Given the description of an element on the screen output the (x, y) to click on. 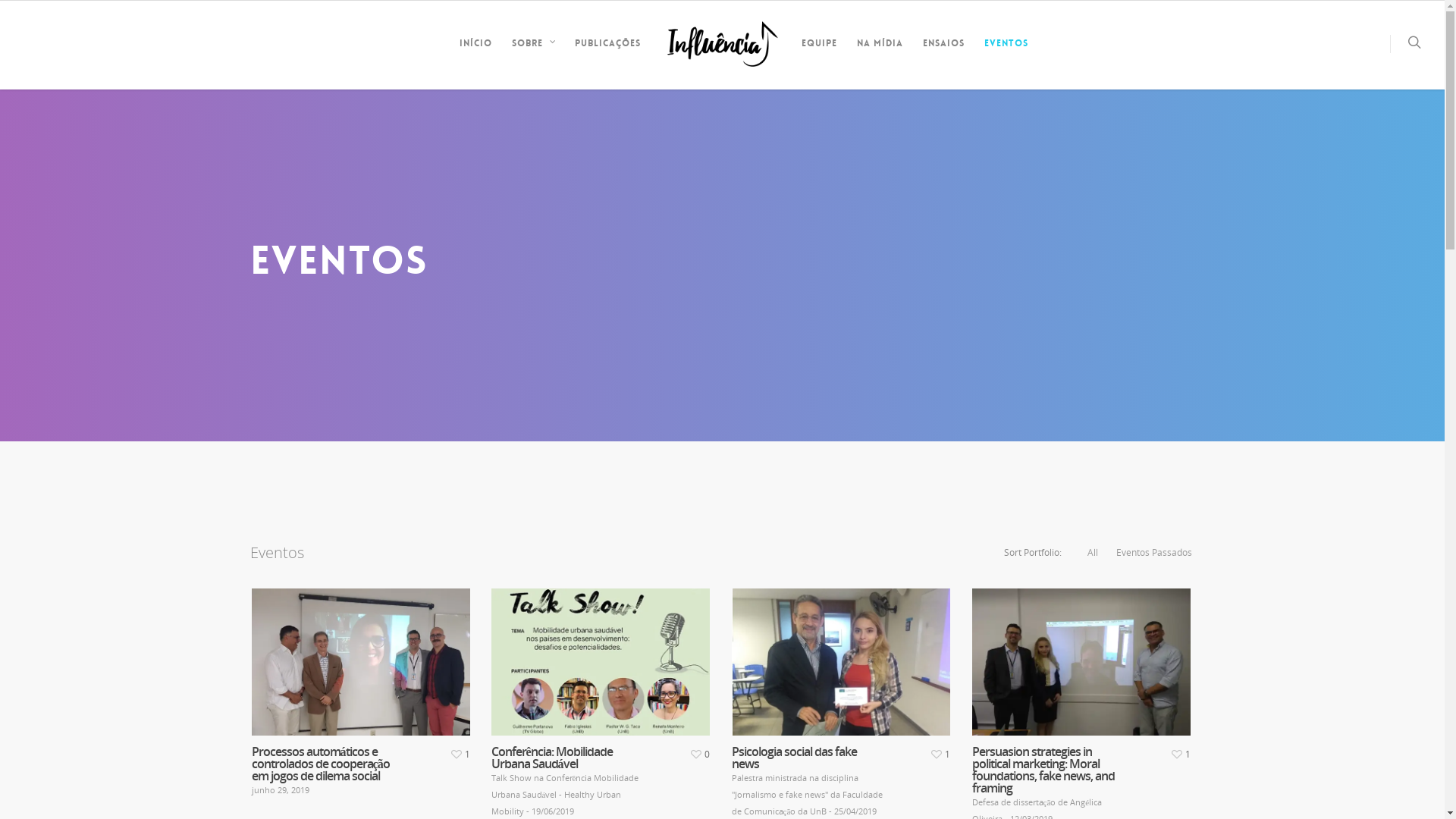
Eventos Element type: text (1005, 54)
Sobre Element type: text (532, 55)
0 Element type: text (698, 752)
1 Element type: text (938, 752)
Eventos Passados Element type: text (1153, 552)
1 Element type: text (1178, 752)
Equipe Element type: text (818, 54)
All Element type: text (1092, 552)
Ensaios Element type: text (942, 54)
1 Element type: text (458, 752)
